Given the description of an element on the screen output the (x, y) to click on. 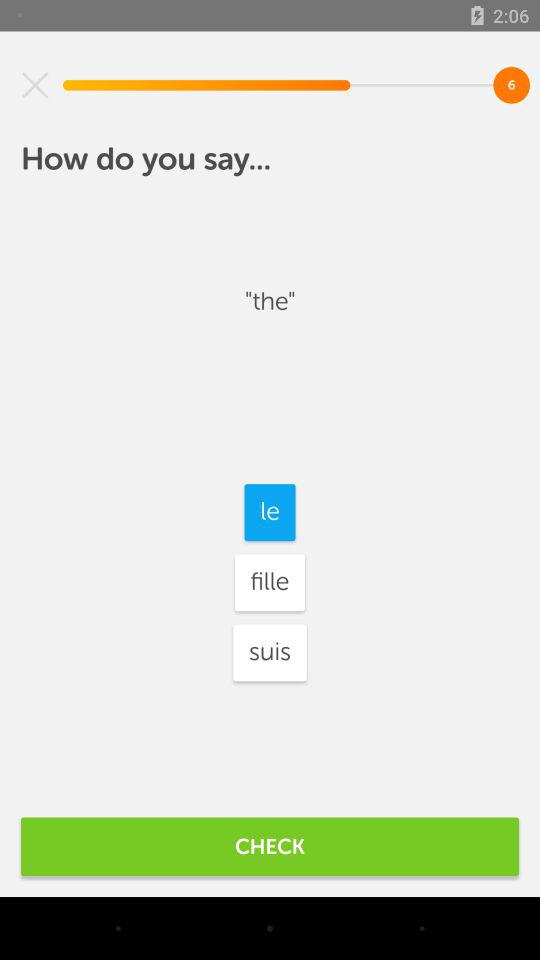
turn off icon below "the" item (269, 512)
